Given the description of an element on the screen output the (x, y) to click on. 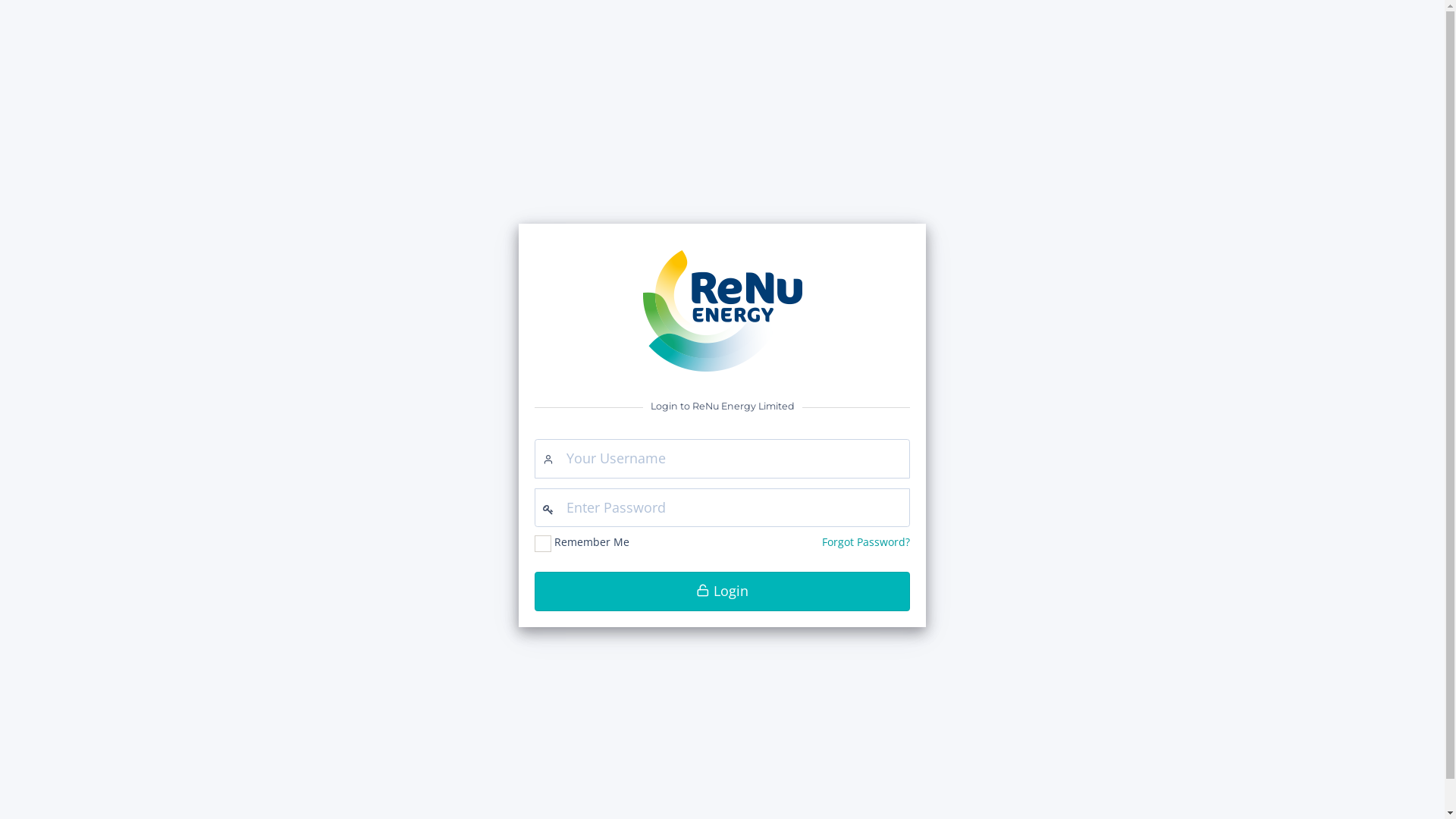
Forgot Password? Element type: text (866, 541)
Login Element type: text (722, 591)
